Given the description of an element on the screen output the (x, y) to click on. 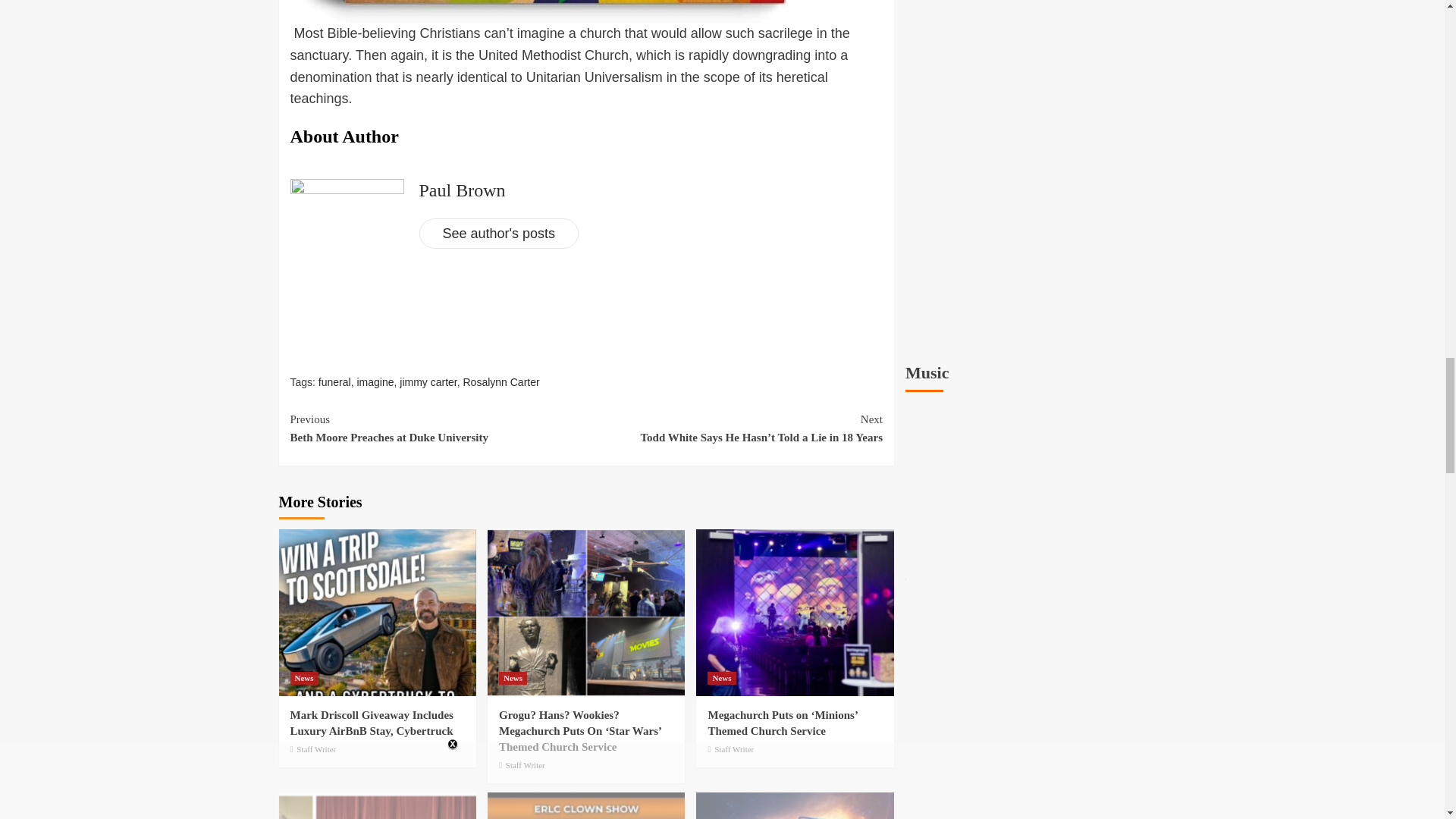
News (303, 677)
See author's posts (498, 233)
funeral (334, 381)
jimmy carter (427, 381)
imagine (374, 381)
News (513, 677)
Staff Writer (316, 748)
Paul Brown (462, 189)
Rosalynn Carter (500, 381)
